Given the description of an element on the screen output the (x, y) to click on. 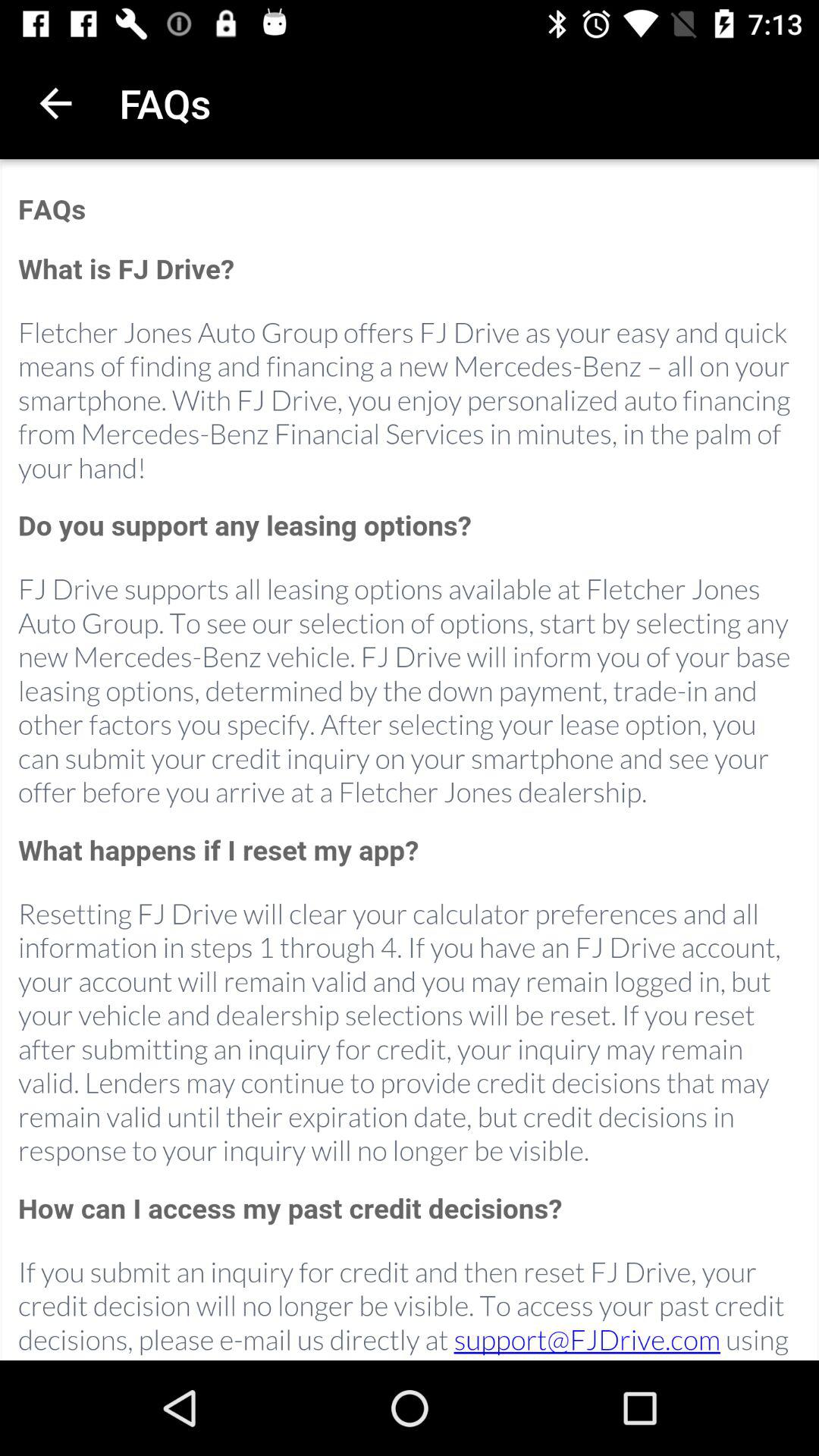
advertisement (409, 760)
